Given the description of an element on the screen output the (x, y) to click on. 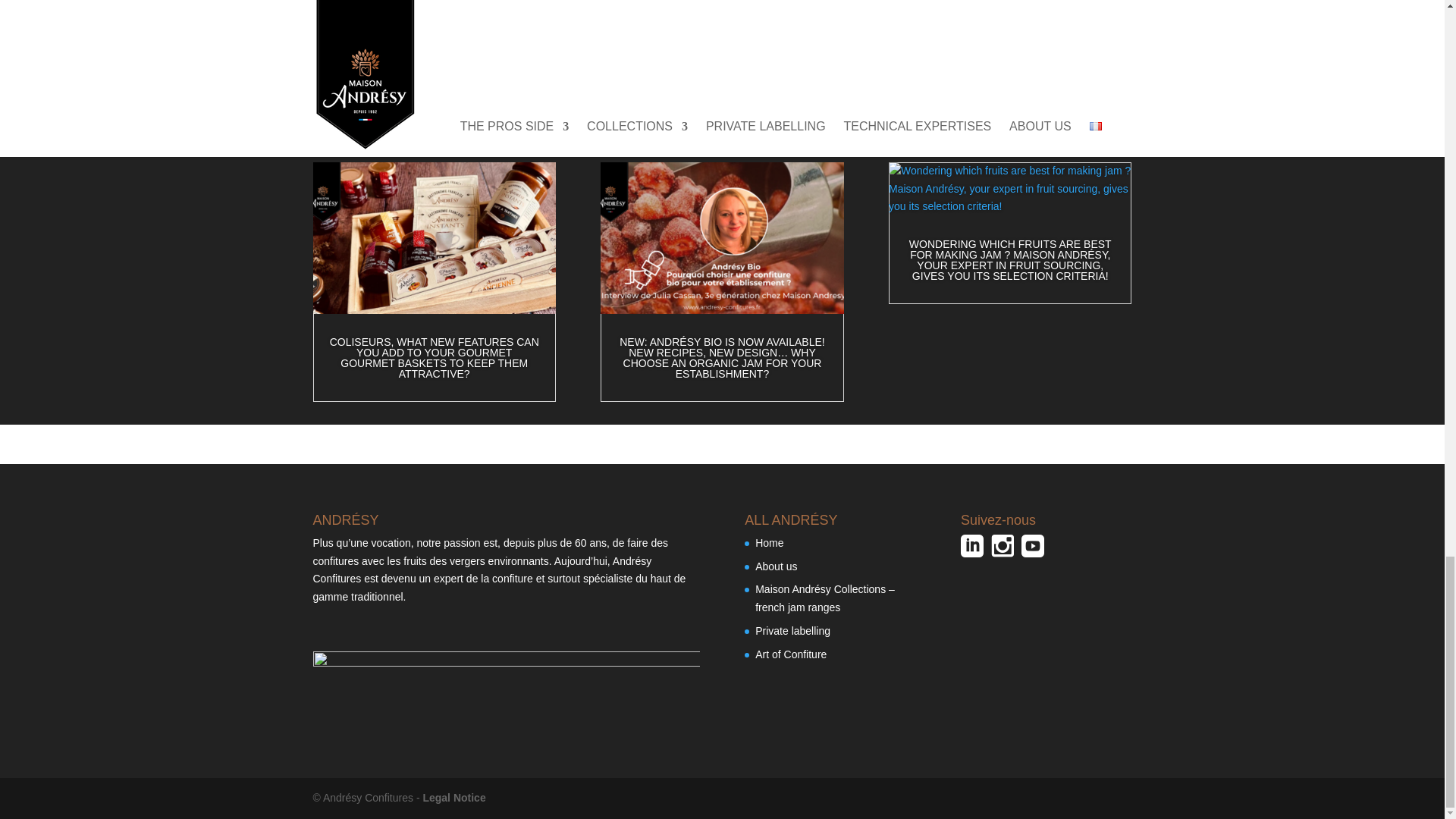
Contact our experts to learn more! (866, 56)
our catalogs (723, 2)
Home (769, 542)
